Given the description of an element on the screen output the (x, y) to click on. 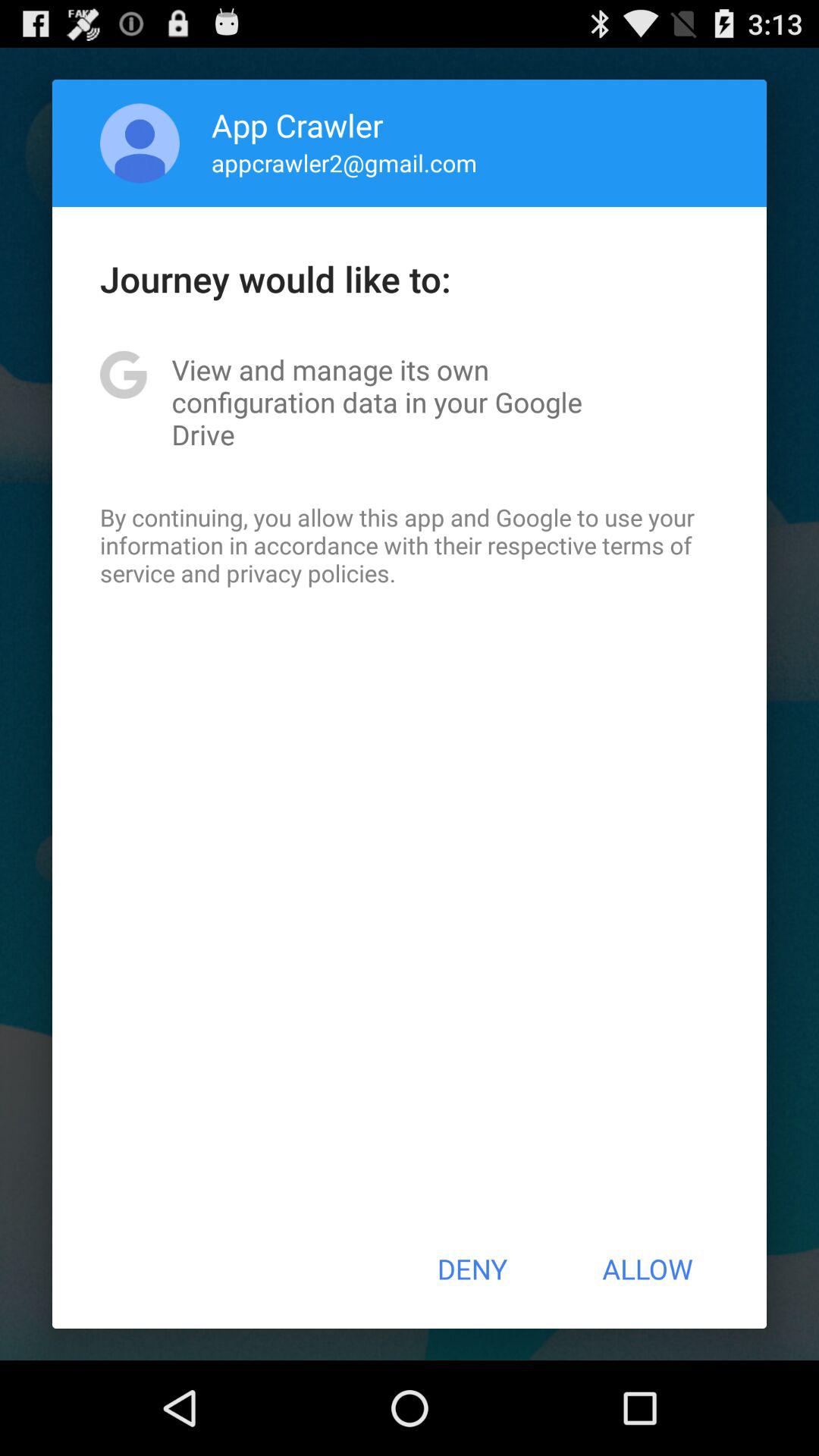
turn on app below journey would like app (409, 401)
